Given the description of an element on the screen output the (x, y) to click on. 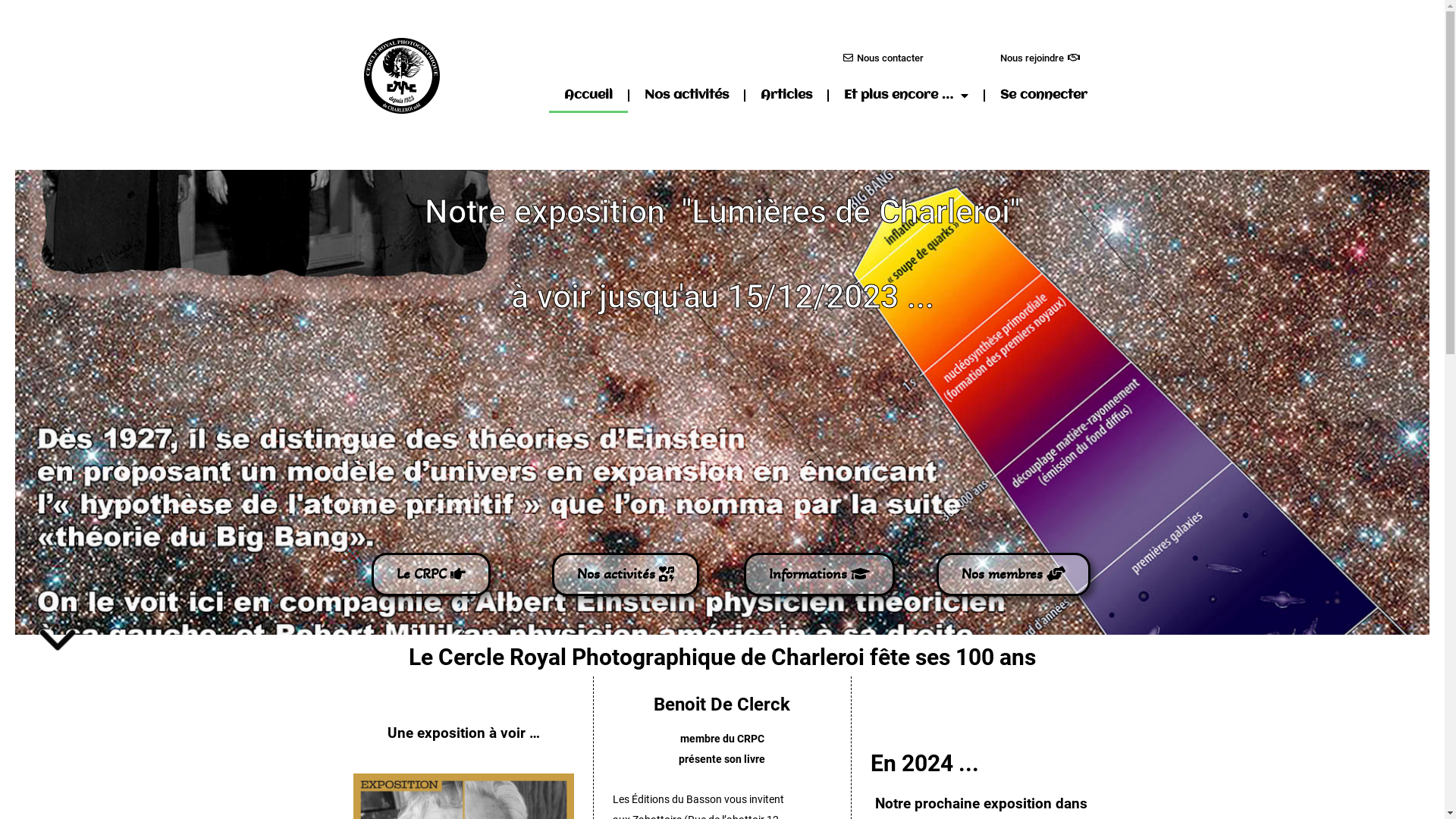
Se connecter Element type: text (1043, 95)
Informations Element type: text (818, 574)
Articles Element type: text (786, 95)
Nos membres Element type: text (1013, 574)
LOGO_CRPC_2024_V0_300 Element type: hover (401, 75)
Accueil Element type: text (588, 95)
Le CRPC Element type: text (430, 574)
Nous rejoindre Element type: text (1040, 57)
Nous contacter Element type: text (883, 57)
